Given the description of an element on the screen output the (x, y) to click on. 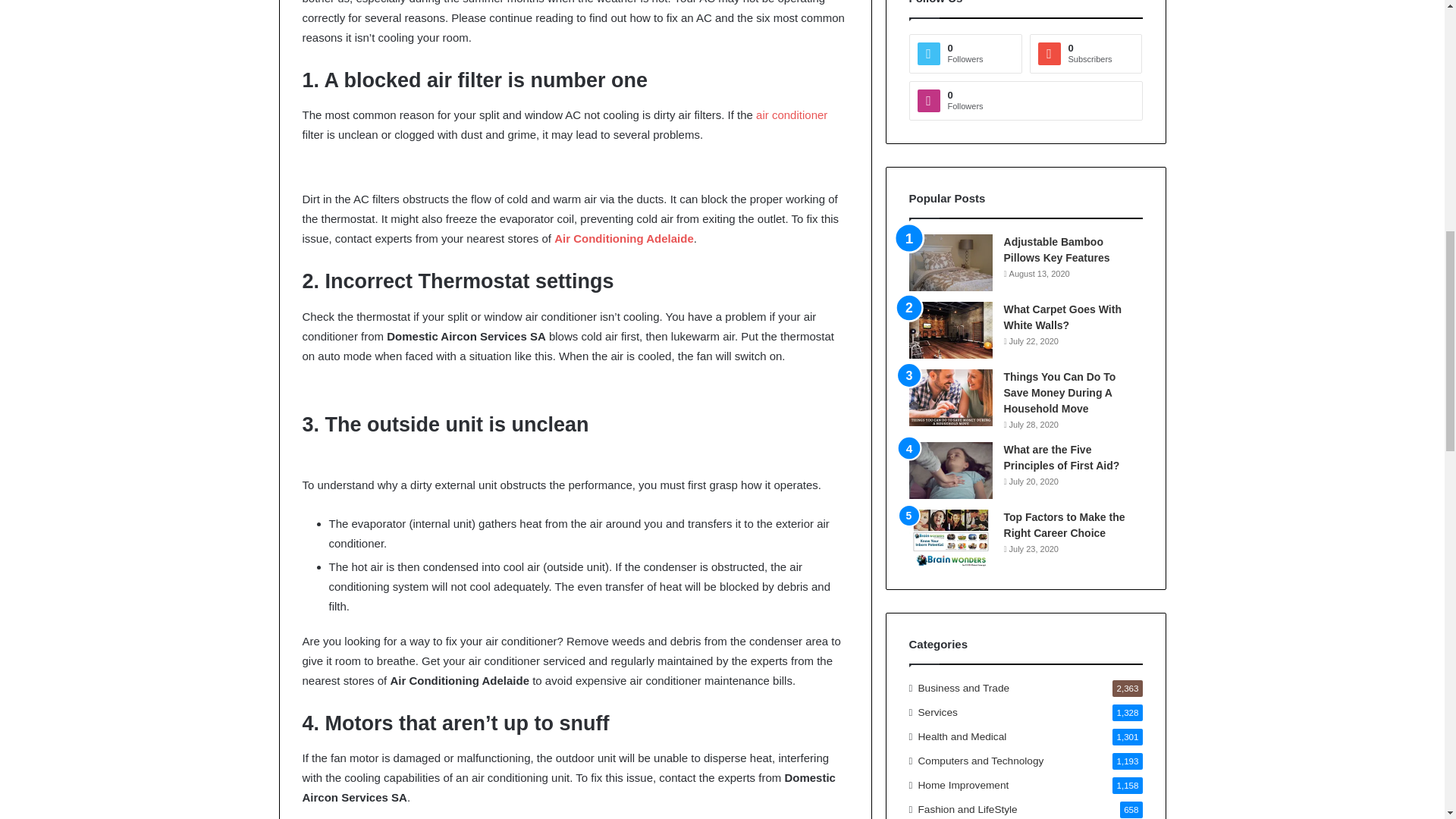
air conditioner (791, 114)
